Given the description of an element on the screen output the (x, y) to click on. 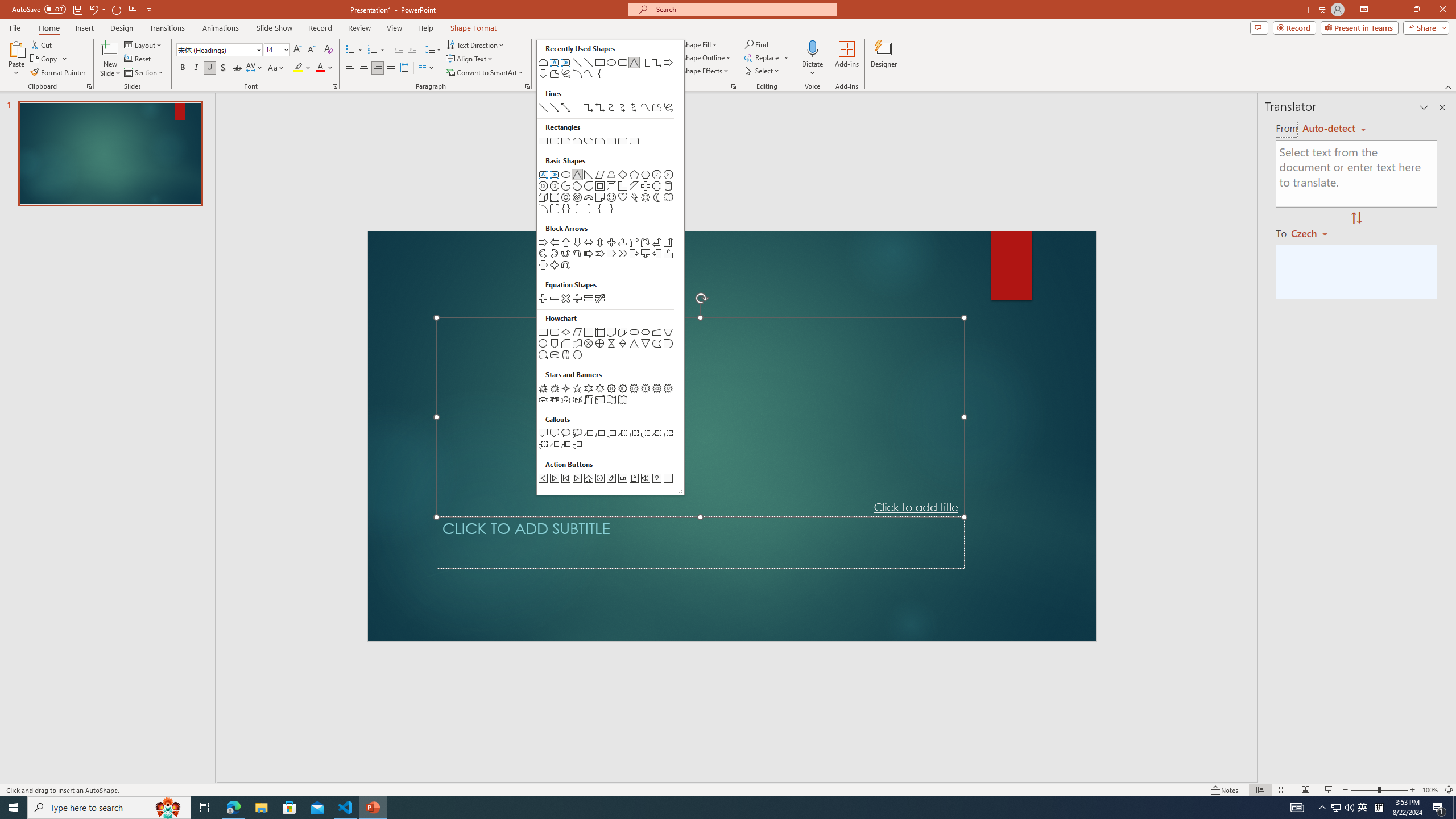
Bold (182, 67)
Clear Formatting (327, 49)
Swap "from" and "to" languages. (1355, 218)
